Given the description of an element on the screen output the (x, y) to click on. 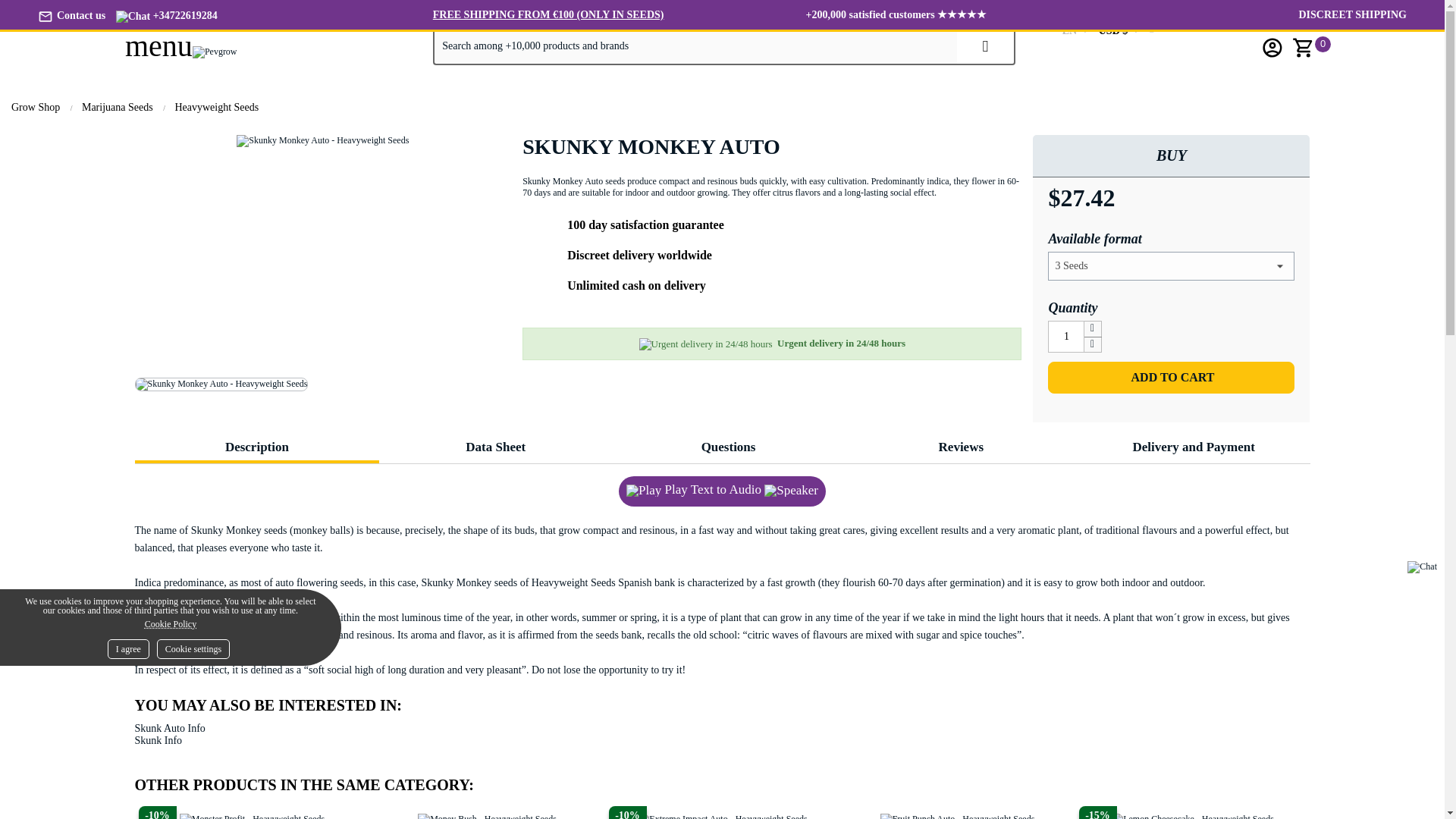
Skunk Auto Info (170, 727)
Grow Shop (37, 107)
Marijuana Seeds (119, 107)
Pevgrow (214, 51)
Cookie Policy (170, 623)
Skunk Info (159, 740)
 ADD TO CART (1171, 377)
I agree (128, 649)
1 (1066, 336)
Heavyweight Seeds (218, 107)
Cookie settings (193, 649)
Log in to your customer account (1272, 47)
Skunky Monkey Auto - Heavyweight Seeds (221, 384)
